Given the description of an element on the screen output the (x, y) to click on. 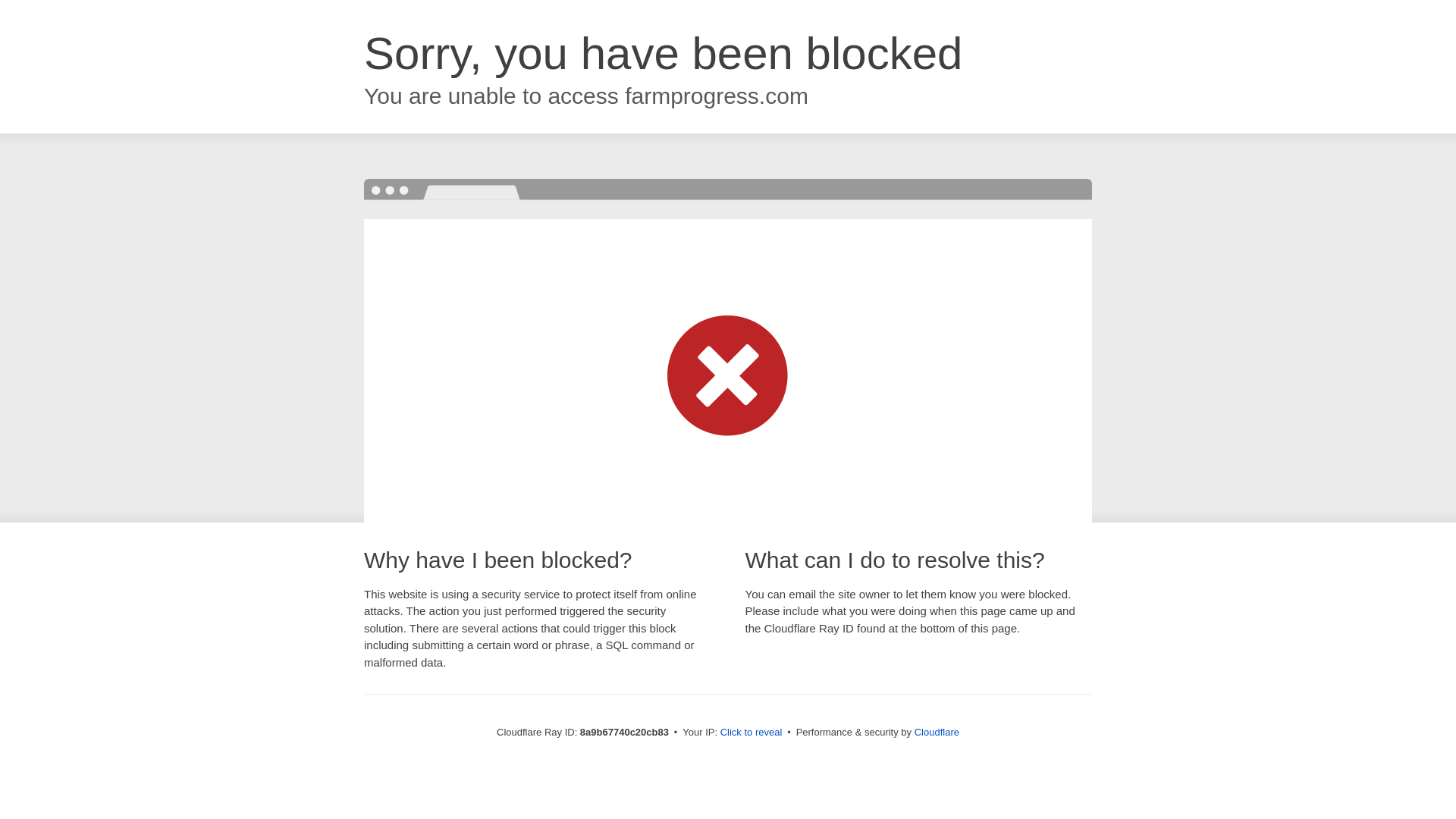
Click to reveal (751, 732)
Cloudflare (936, 731)
